Given the description of an element on the screen output the (x, y) to click on. 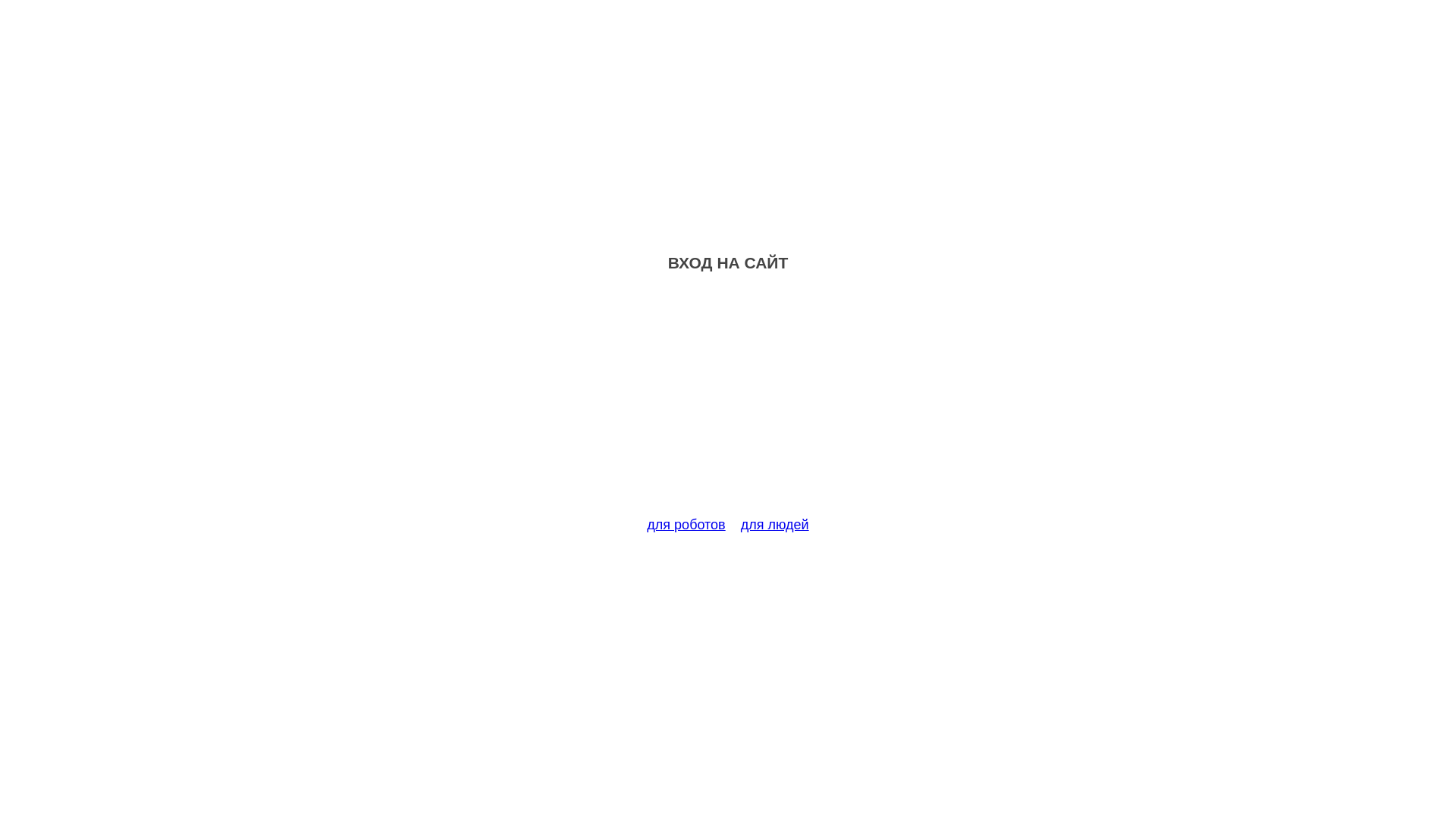
Advertisement Element type: hover (727, 403)
